Given the description of an element on the screen output the (x, y) to click on. 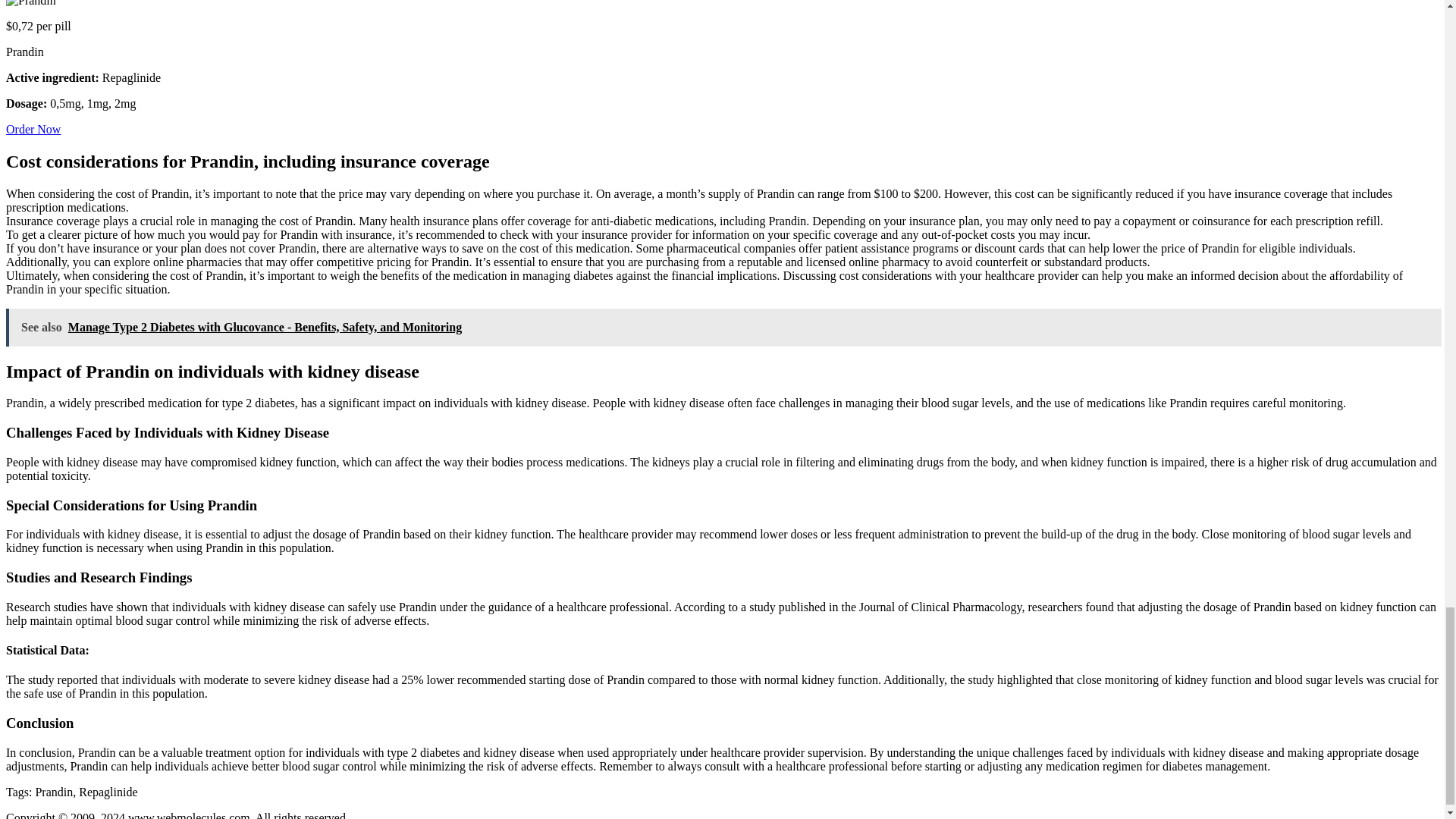
Order Now (33, 128)
